Given the description of an element on the screen output the (x, y) to click on. 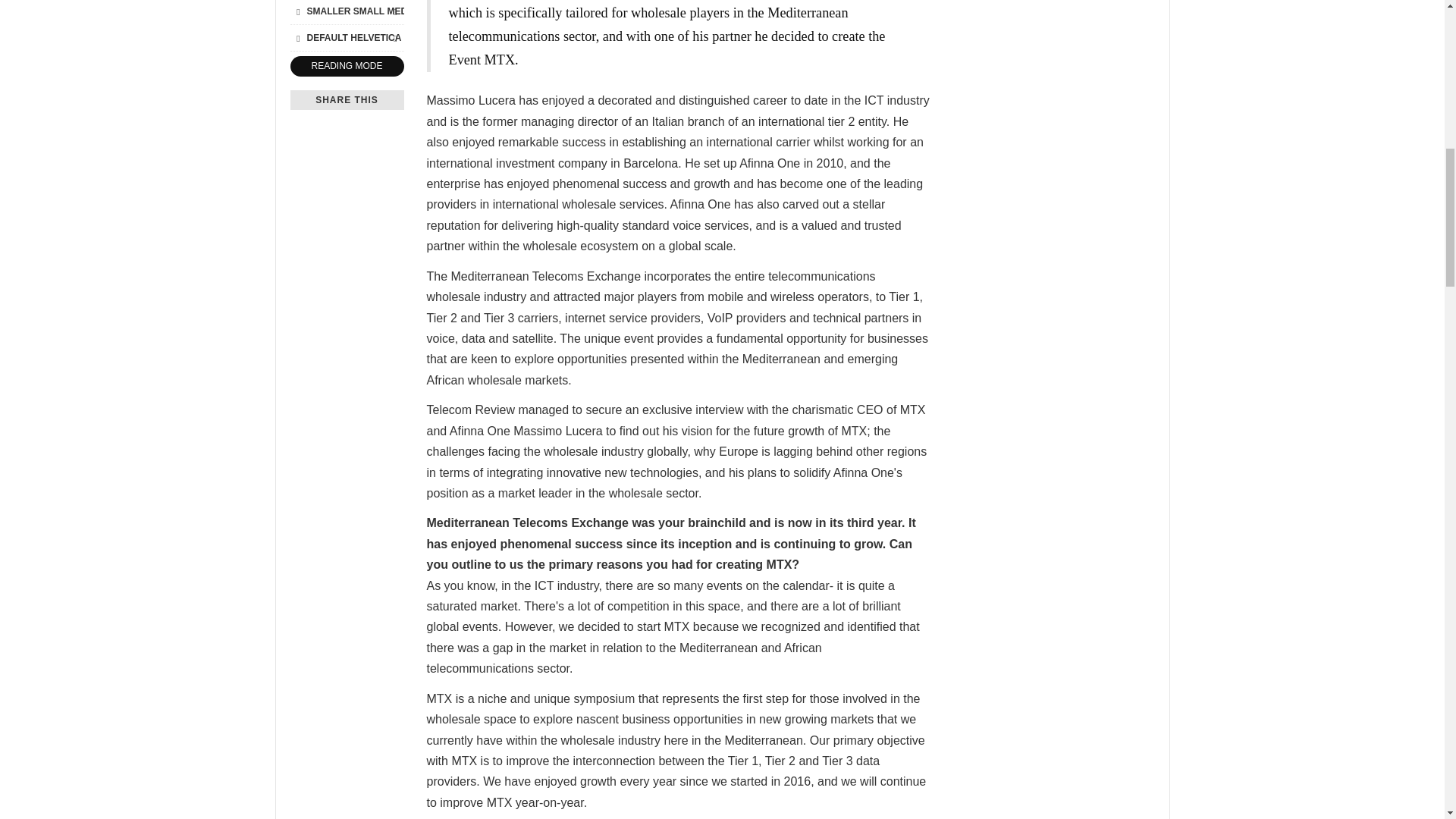
Bigger Font (395, 11)
Previous Font Style (297, 37)
Next Font Style (395, 37)
Smaller Font (297, 11)
Reading Mode (346, 66)
